Given the description of an element on the screen output the (x, y) to click on. 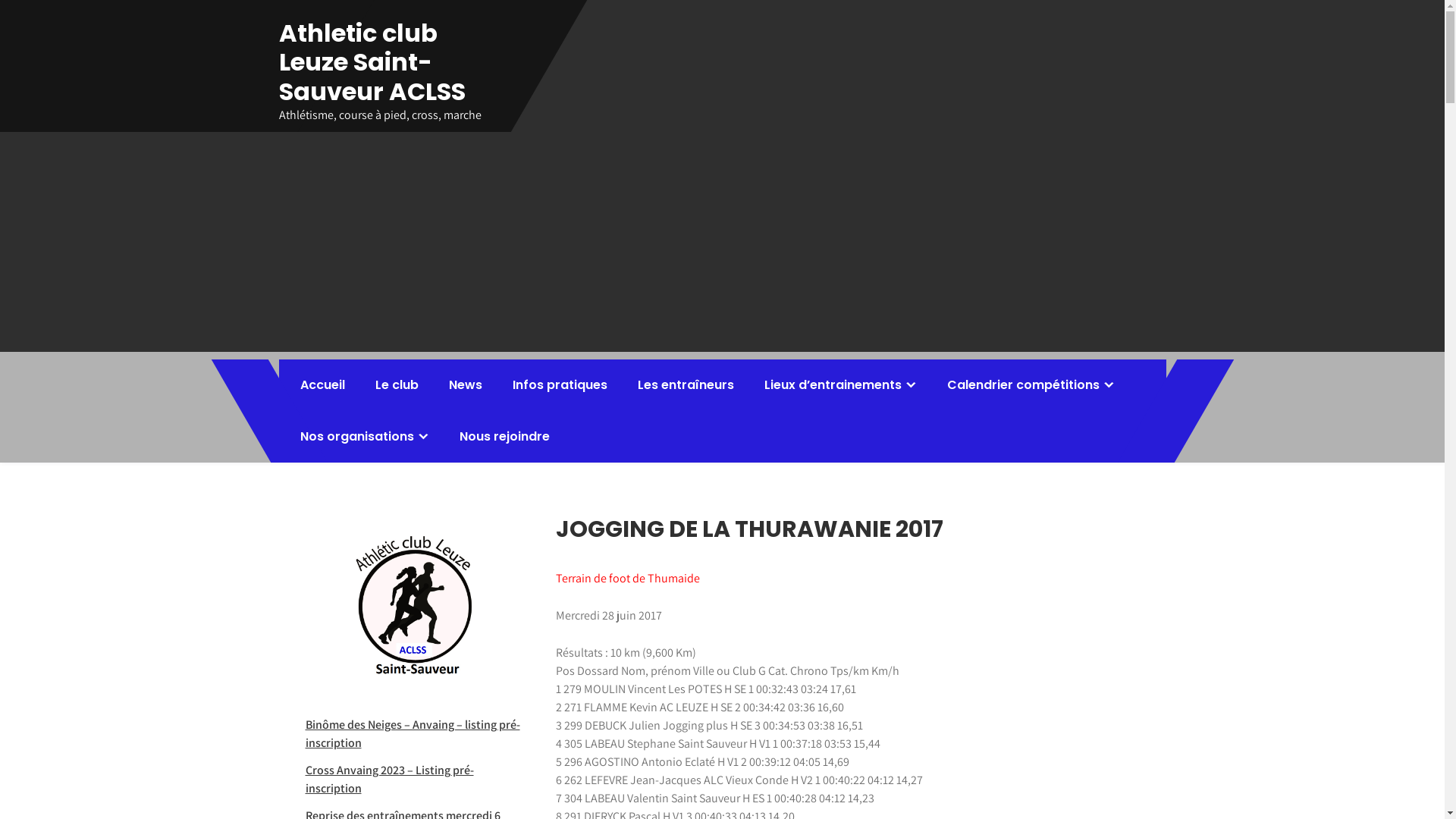
Advertisement Element type: hover (721, 245)
Nous rejoindre Element type: text (504, 436)
Athletic club Leuze Saint-Sauveur ACLSS Element type: text (372, 61)
Nos organisations Element type: text (364, 436)
Accueil Element type: text (322, 385)
Infos pratiques Element type: text (559, 385)
Le club Element type: text (395, 385)
News Element type: text (465, 385)
